Given the description of an element on the screen output the (x, y) to click on. 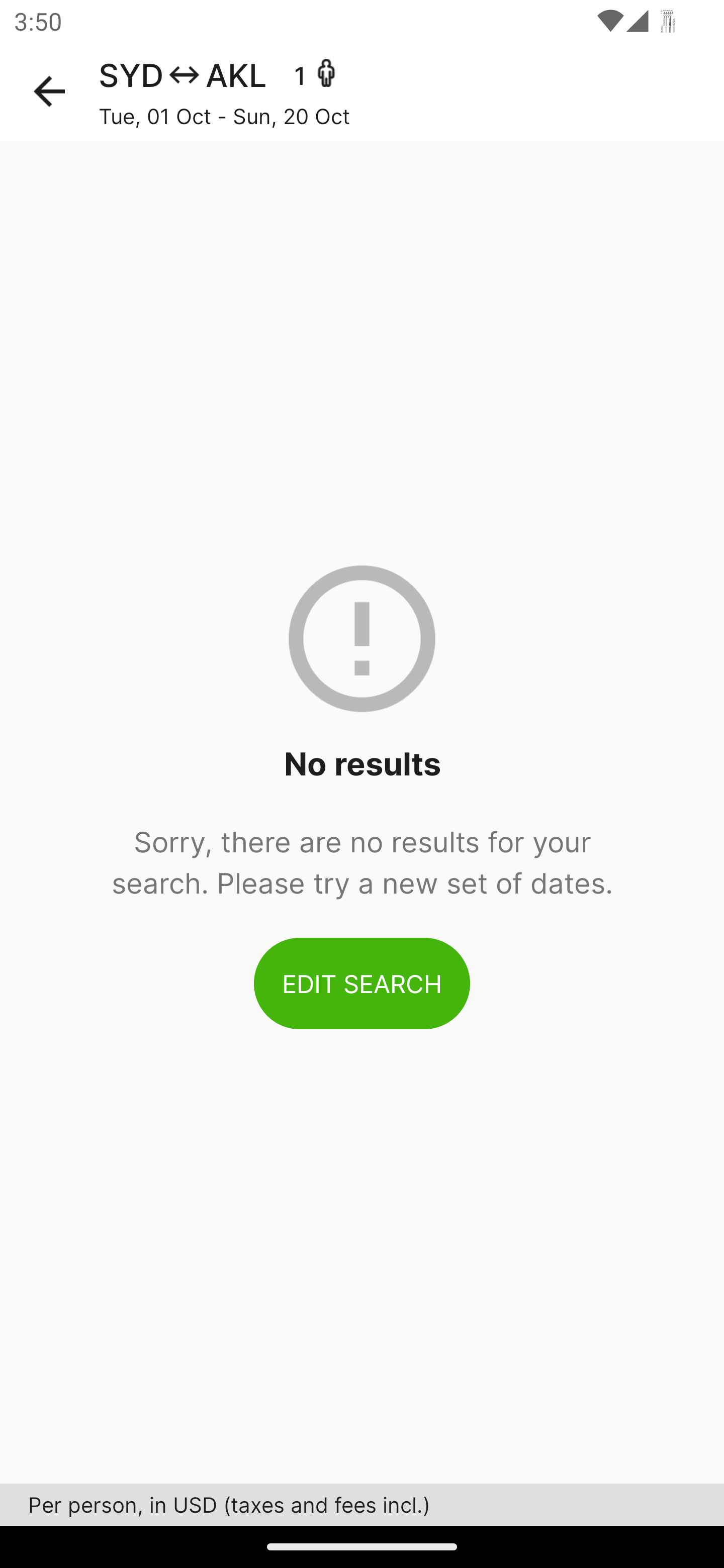
SYD AKL   1 - Tue, 01 Oct - Sun, 20 Oct (411, 91)
EDIT SEARCH (361, 982)
